Given the description of an element on the screen output the (x, y) to click on. 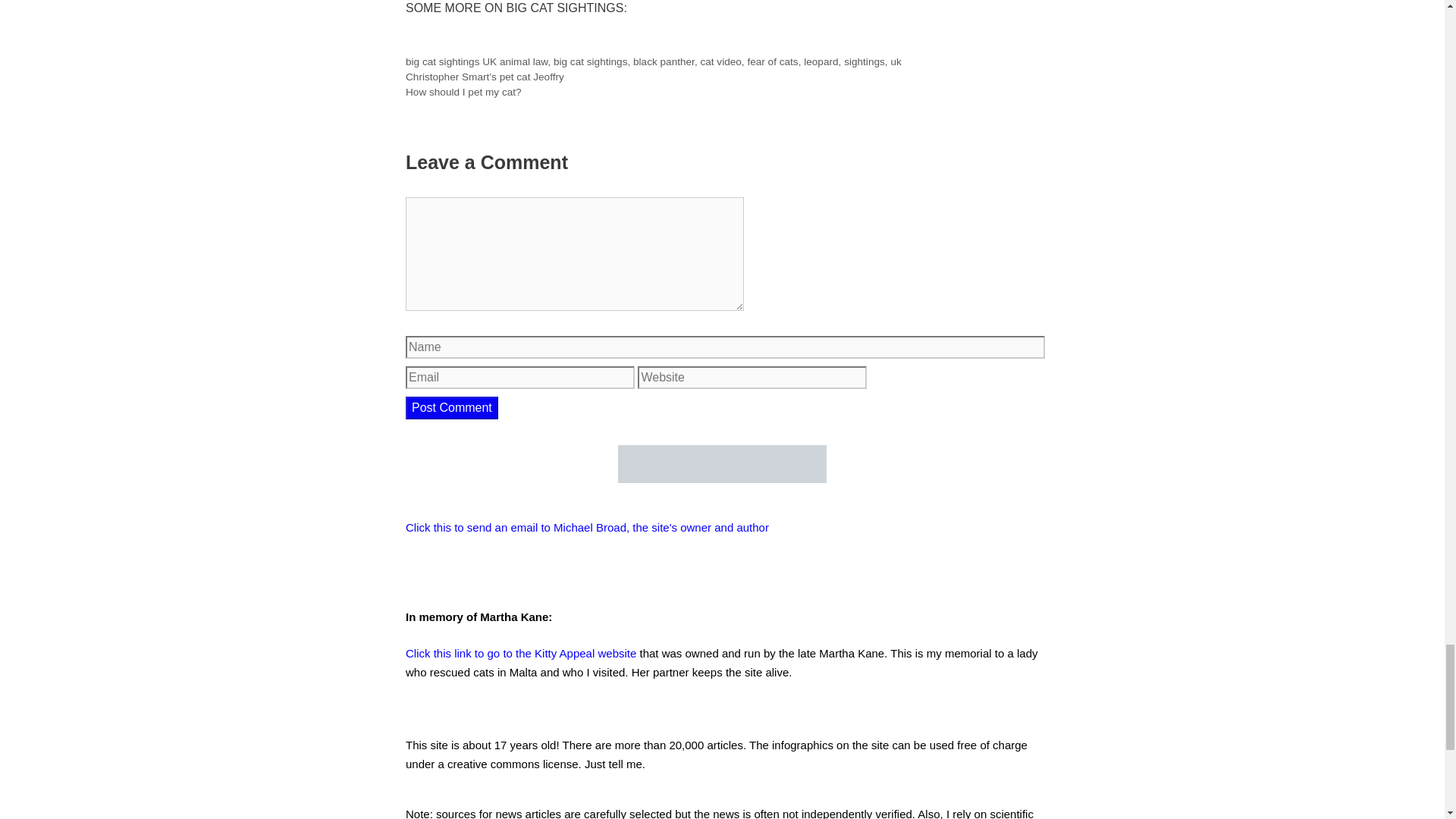
fear of cats (771, 61)
big cat sightings UK (451, 61)
cat video (720, 61)
sightings (864, 61)
big cat sightings (590, 61)
leopard (820, 61)
black panther (663, 61)
animal law (523, 61)
How should I pet my cat? (463, 91)
Post Comment (451, 406)
